Given the description of an element on the screen output the (x, y) to click on. 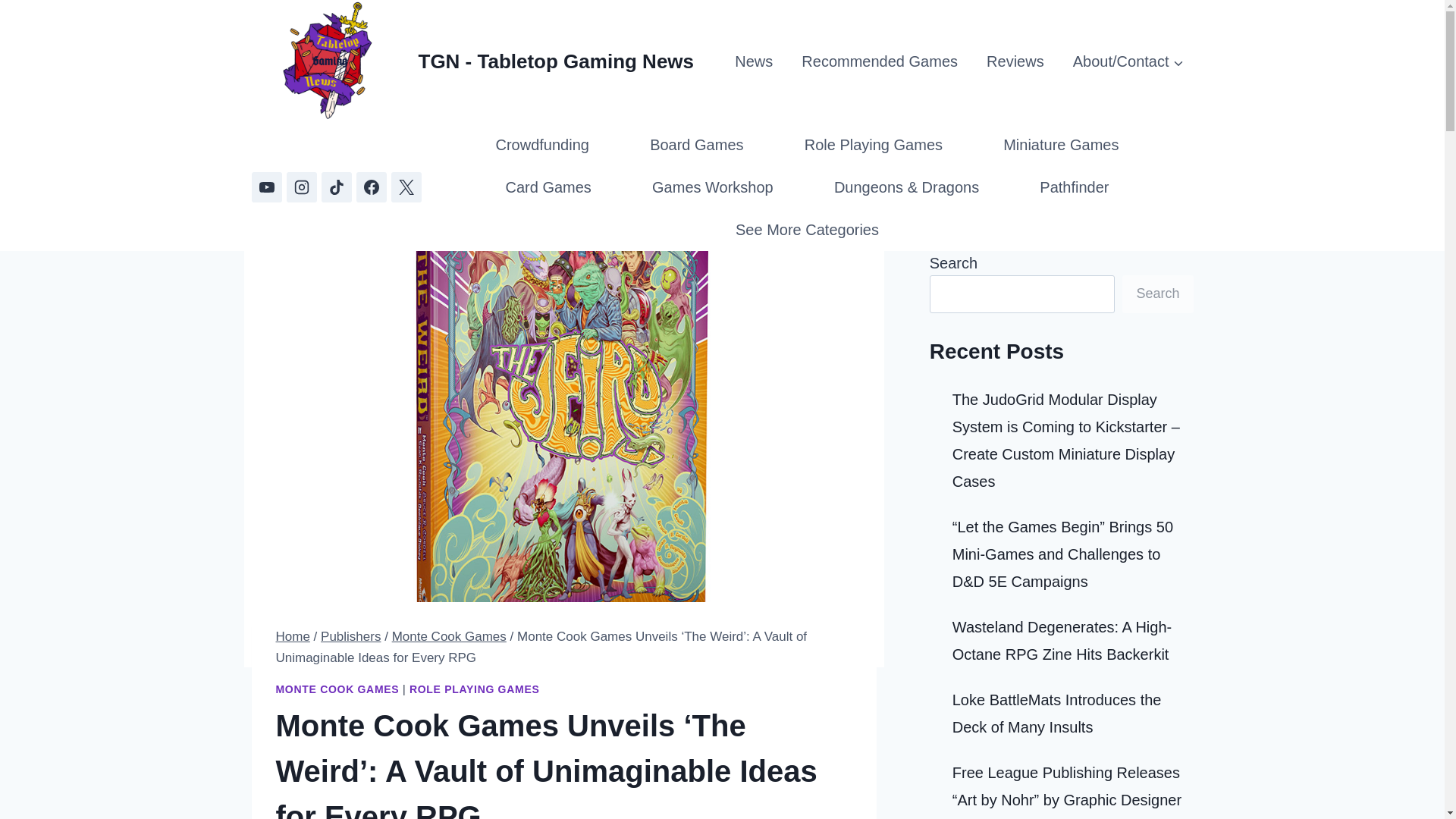
Role Playing Games (874, 144)
TGN - Tabletop Gaming News (472, 61)
Home (293, 636)
Monte Cook Games (448, 636)
Publishers (350, 636)
Reviews (1014, 61)
Games Workshop (712, 187)
See More Categories (806, 229)
Recommended Games (879, 61)
News (753, 61)
ROLE PLAYING GAMES (474, 689)
MONTE COOK GAMES (337, 689)
Miniature Games (1060, 144)
Board Games (697, 144)
Card Games (547, 187)
